Given the description of an element on the screen output the (x, y) to click on. 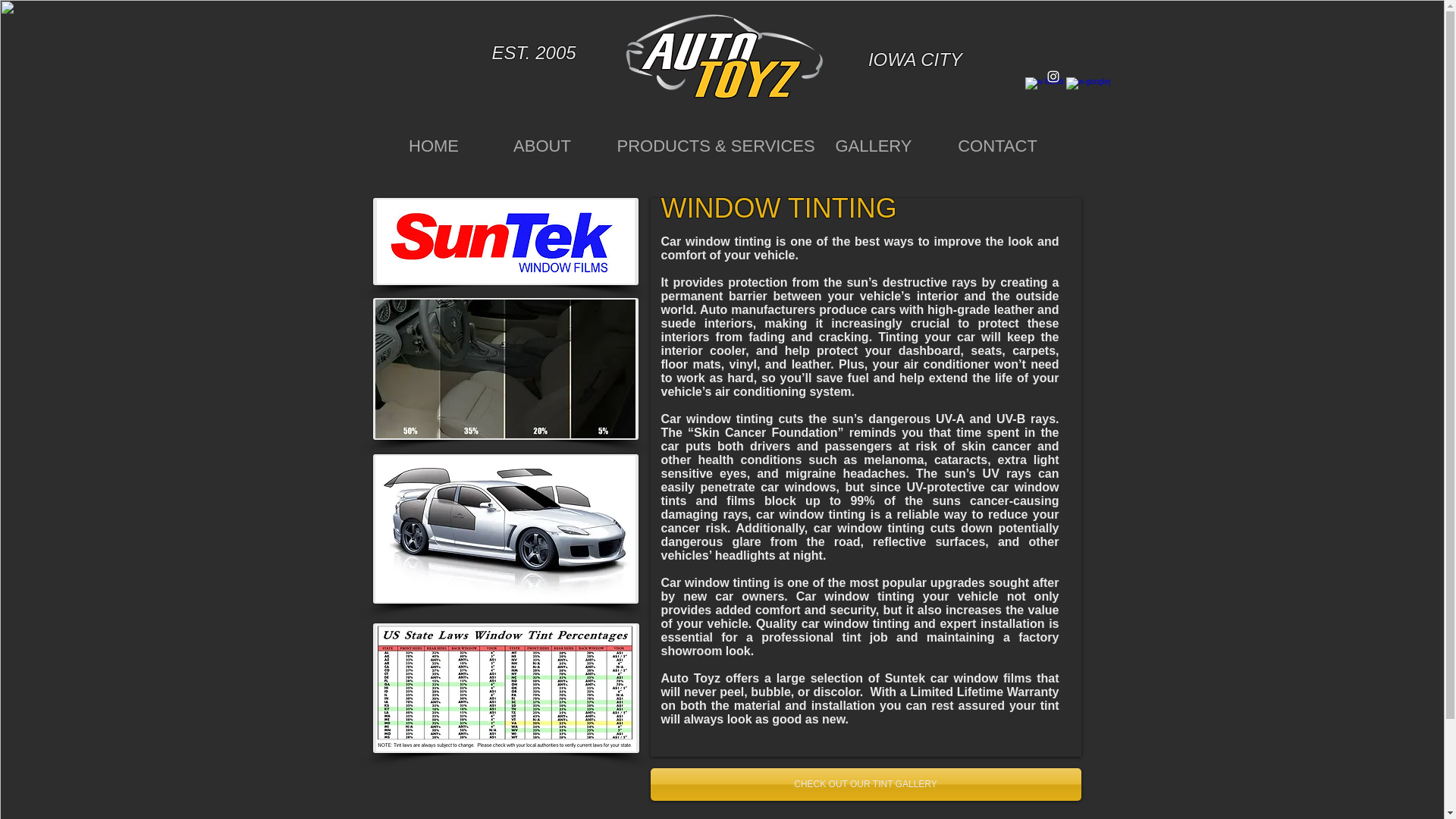
Tint.jpg (505, 528)
GALLERY (872, 150)
ABOUT (542, 150)
Suntek Logo.png (505, 241)
Window Tint Shades.jpg 2015-3-2-13:20:45 (505, 368)
Tint Laws.jpg (505, 687)
HOME (433, 150)
CHECK OUT OUR TINT GALLERY (865, 784)
CONTACT (997, 150)
